Given the description of an element on the screen output the (x, y) to click on. 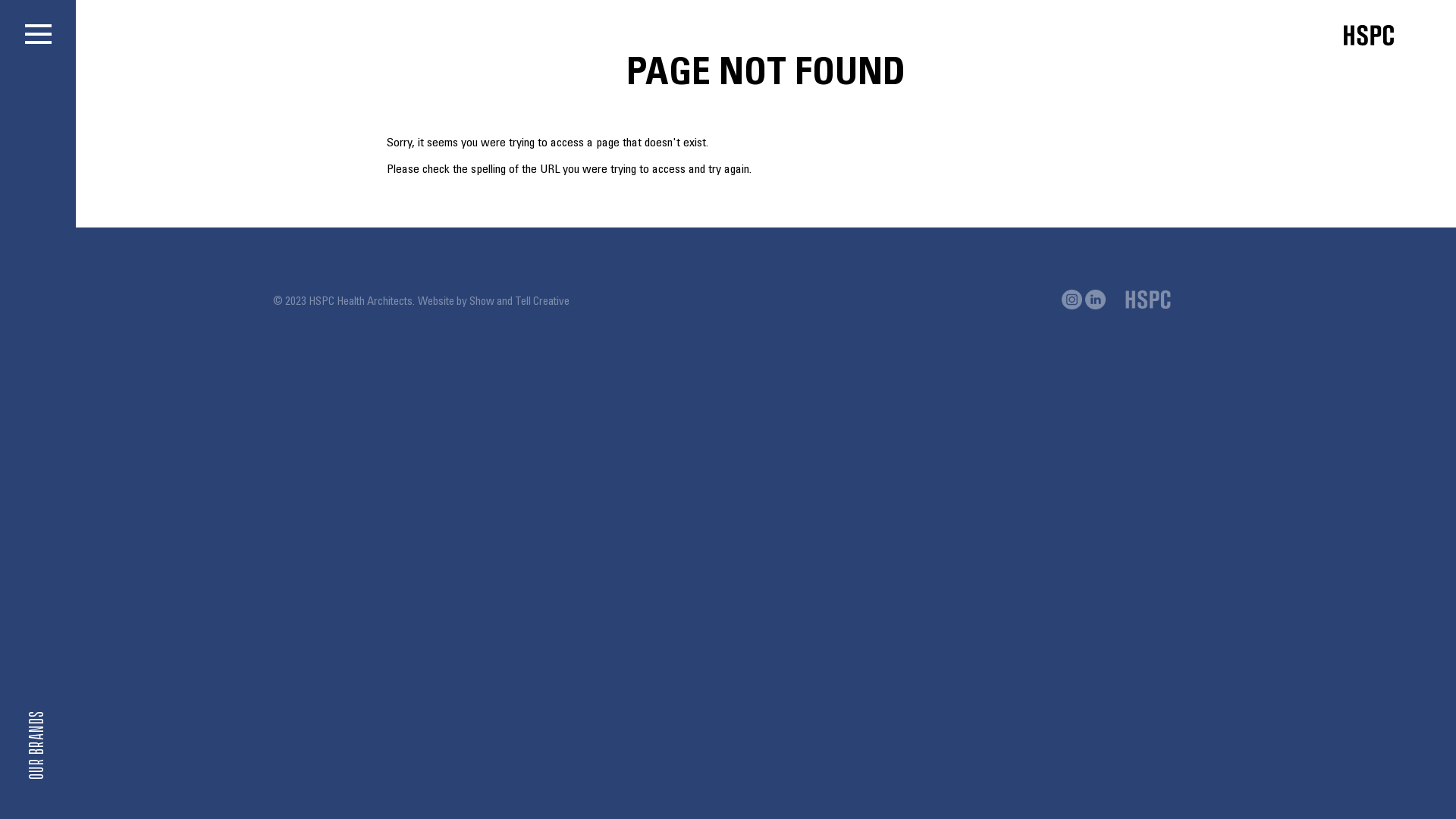
Search Element type: text (178, 536)
Show and Tell Creative Element type: text (519, 301)
Our brands Element type: text (62, 720)
